Given the description of an element on the screen output the (x, y) to click on. 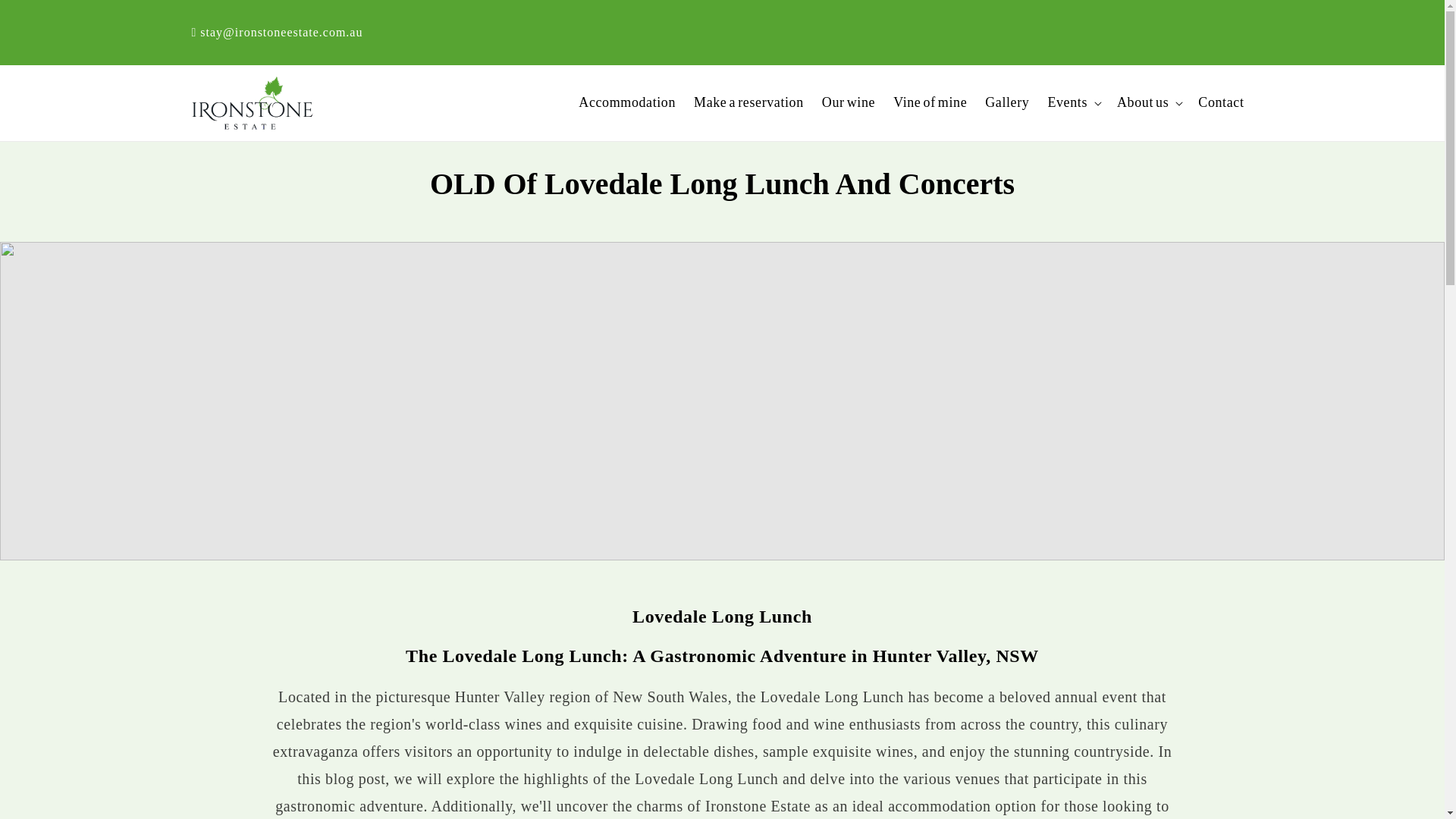
Skip to content (45, 17)
Our wine (847, 102)
Make a reservation (748, 102)
Accommodation (626, 102)
